Given the description of an element on the screen output the (x, y) to click on. 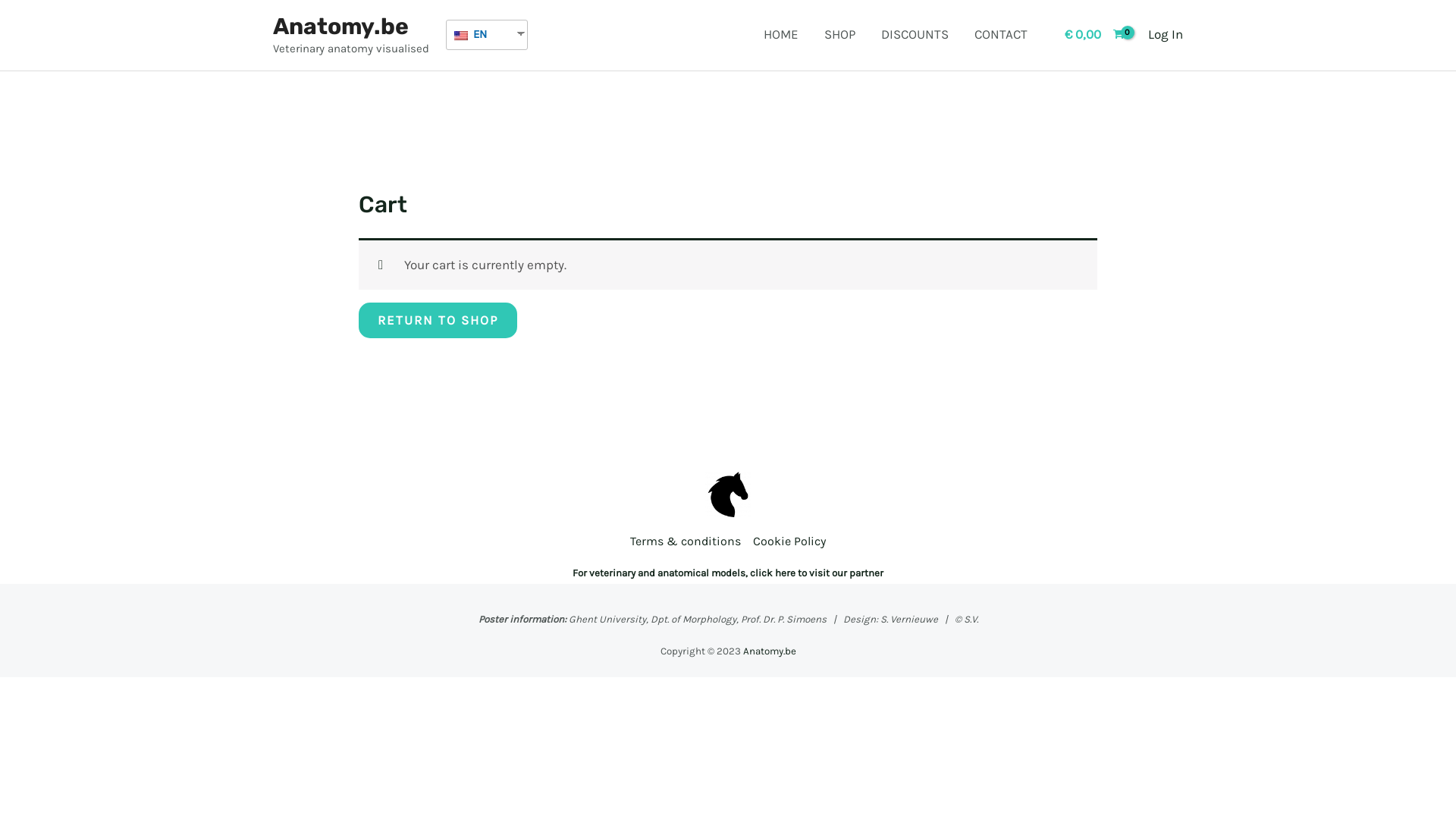
English Element type: hover (460, 35)
RETURN TO SHOP Element type: text (437, 320)
CONTACT Element type: text (1000, 33)
DISCOUNTS Element type: text (913, 33)
Cookie Policy Element type: text (785, 541)
Terms & conditions Element type: text (688, 541)
Anatomy.be Element type: text (340, 26)
HOME Element type: text (780, 33)
SHOP Element type: text (839, 33)
Anatomy.be Element type: text (769, 650)
Log In Element type: text (1165, 34)
EN Element type: text (480, 34)
